Given the description of an element on the screen output the (x, y) to click on. 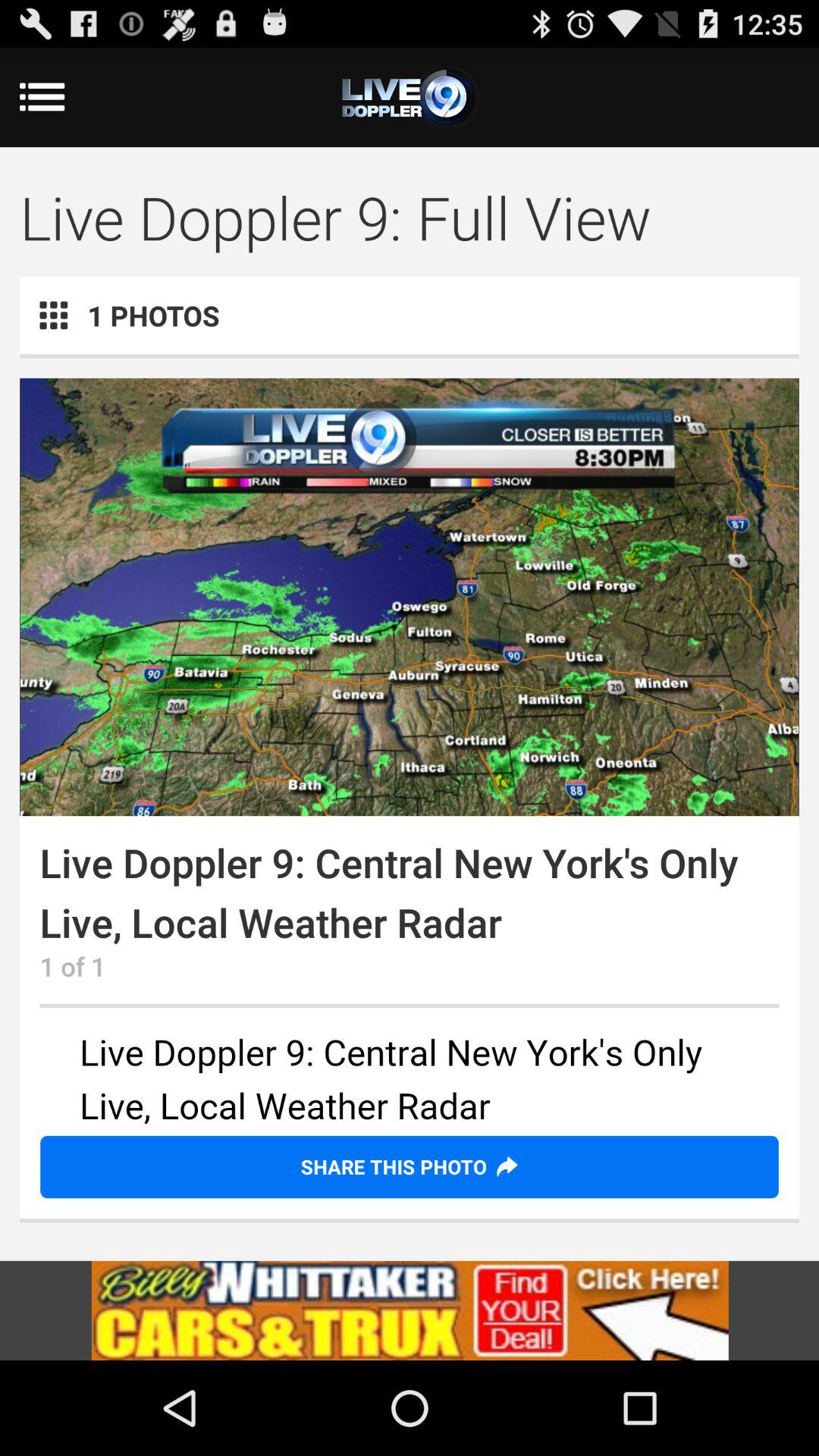
see advertisement (409, 1081)
